Given the description of an element on the screen output the (x, y) to click on. 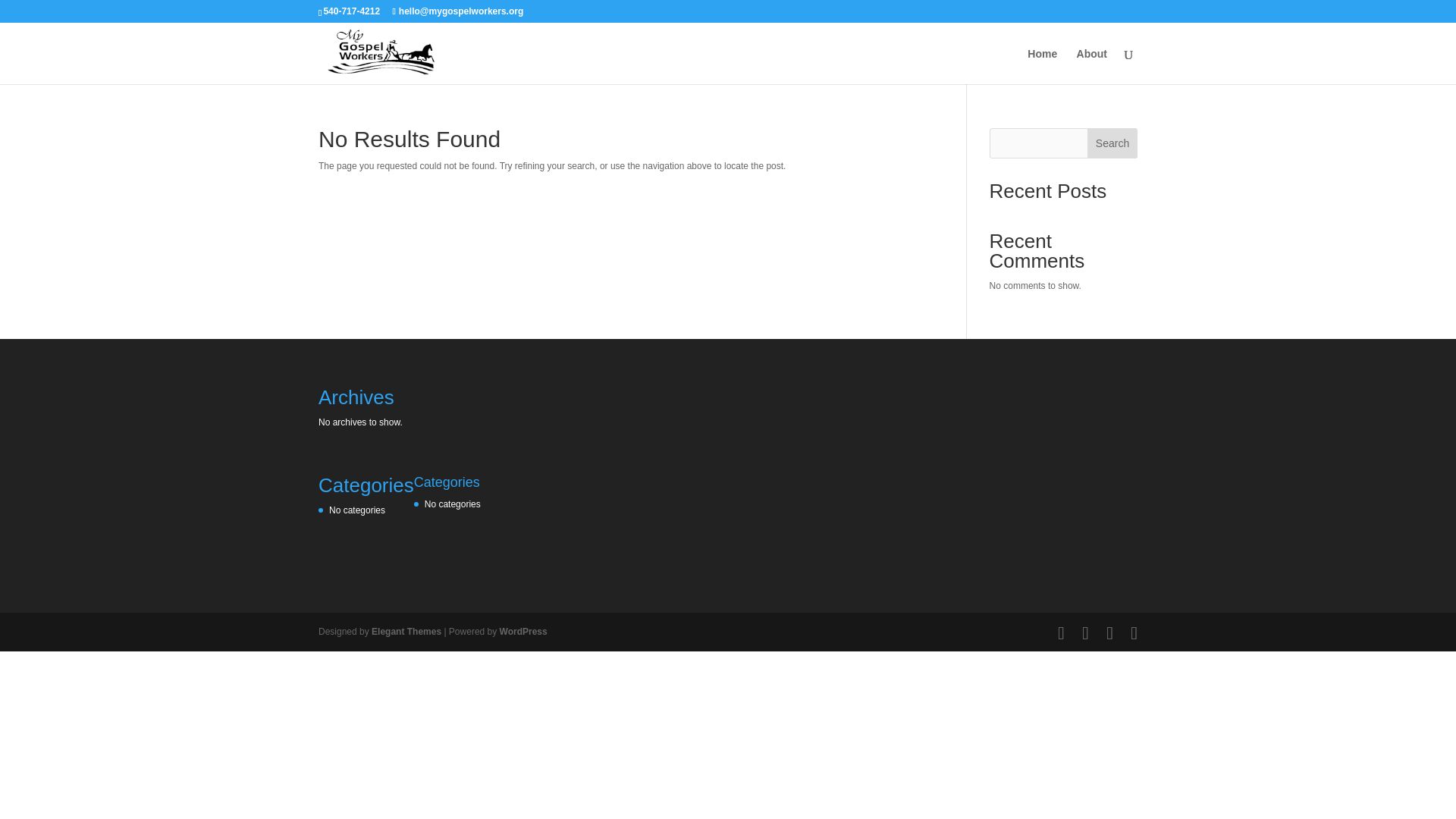
Elegant Themes (406, 631)
Search (1112, 142)
Premium WordPress Themes (406, 631)
WordPress (523, 631)
